Given the description of an element on the screen output the (x, y) to click on. 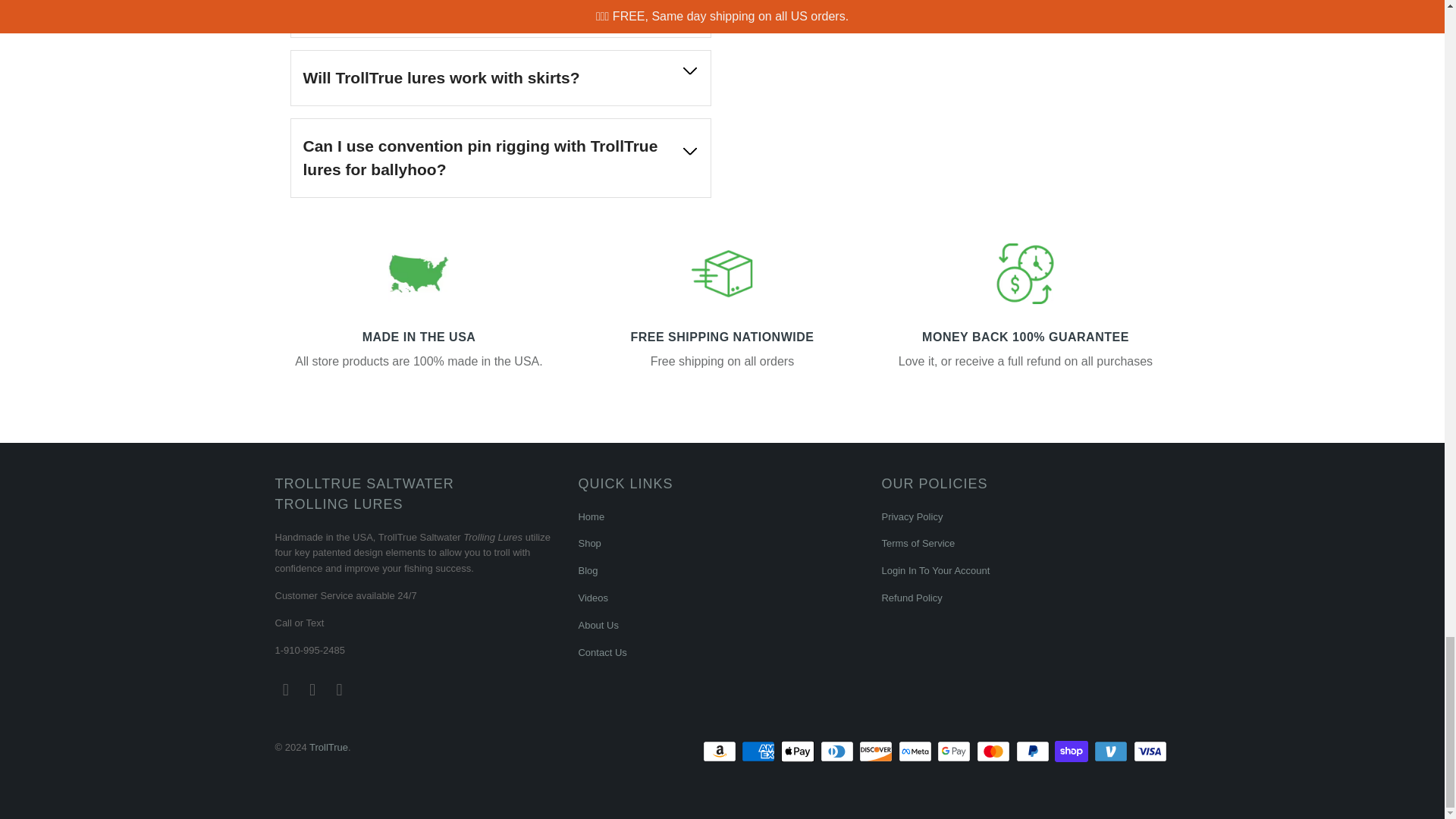
American Express (759, 751)
Discover (877, 751)
Visa (1150, 751)
Mastercard (994, 751)
Amazon (721, 751)
TrollTrue on Facebook (286, 689)
Shop Pay (1072, 751)
Meta Pay (916, 751)
Diners Club (839, 751)
Apple Pay (798, 751)
Venmo (1112, 751)
Google Pay (955, 751)
PayPal (1034, 751)
